Given the description of an element on the screen output the (x, y) to click on. 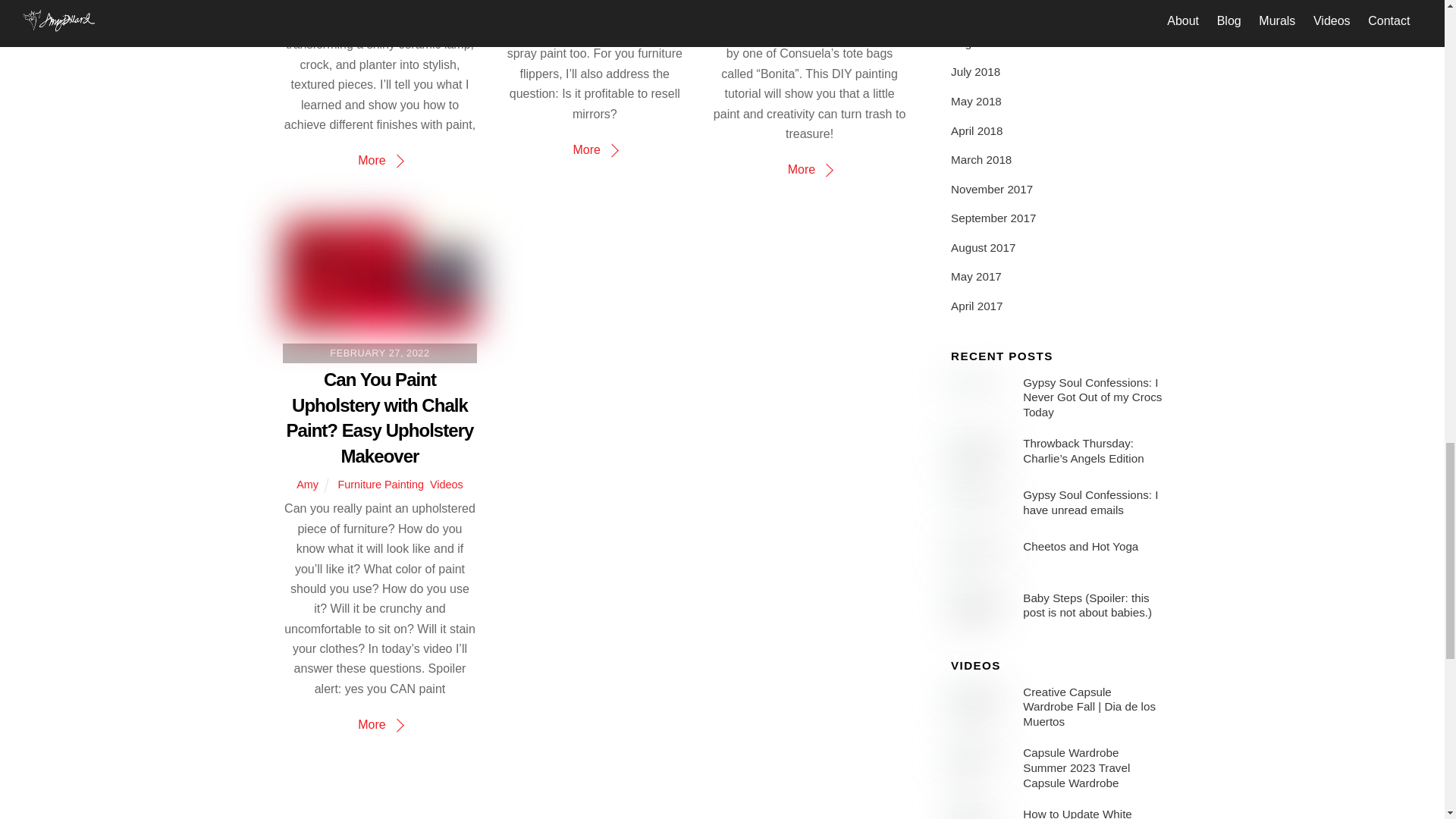
Charlie's Angels feature (980, 452)
Feb 27 2022 (379, 275)
crocs 2 (980, 392)
